Given the description of an element on the screen output the (x, y) to click on. 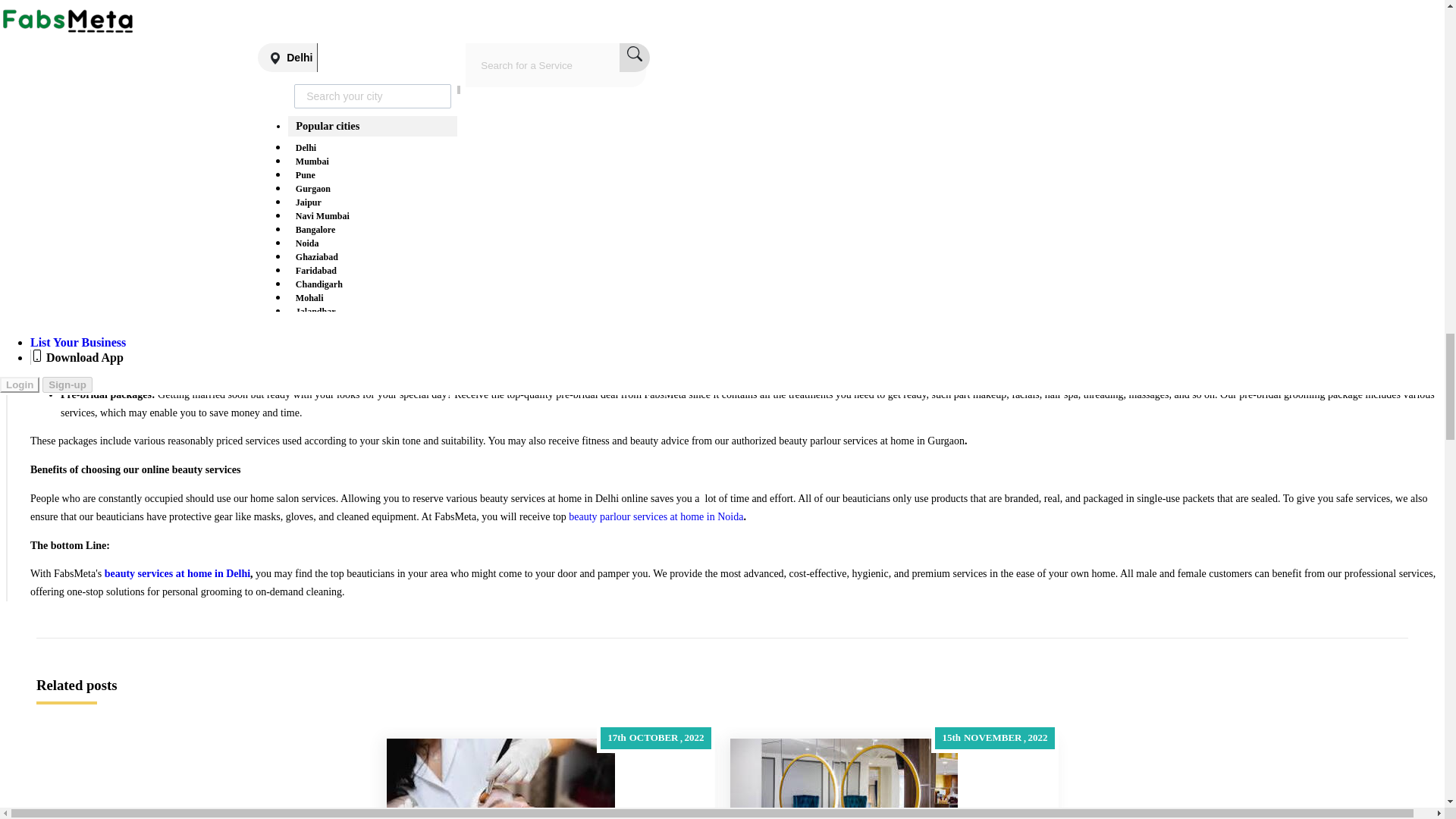
Get trendy beauty care at home with online beauty services (143, 114)
Get trendy beauty care at home with online beauty services (500, 778)
Get trendy beauty care at home with online beauty services (550, 778)
Get trendy beauty care at home with online beauty services (143, 111)
